Given the description of an element on the screen output the (x, y) to click on. 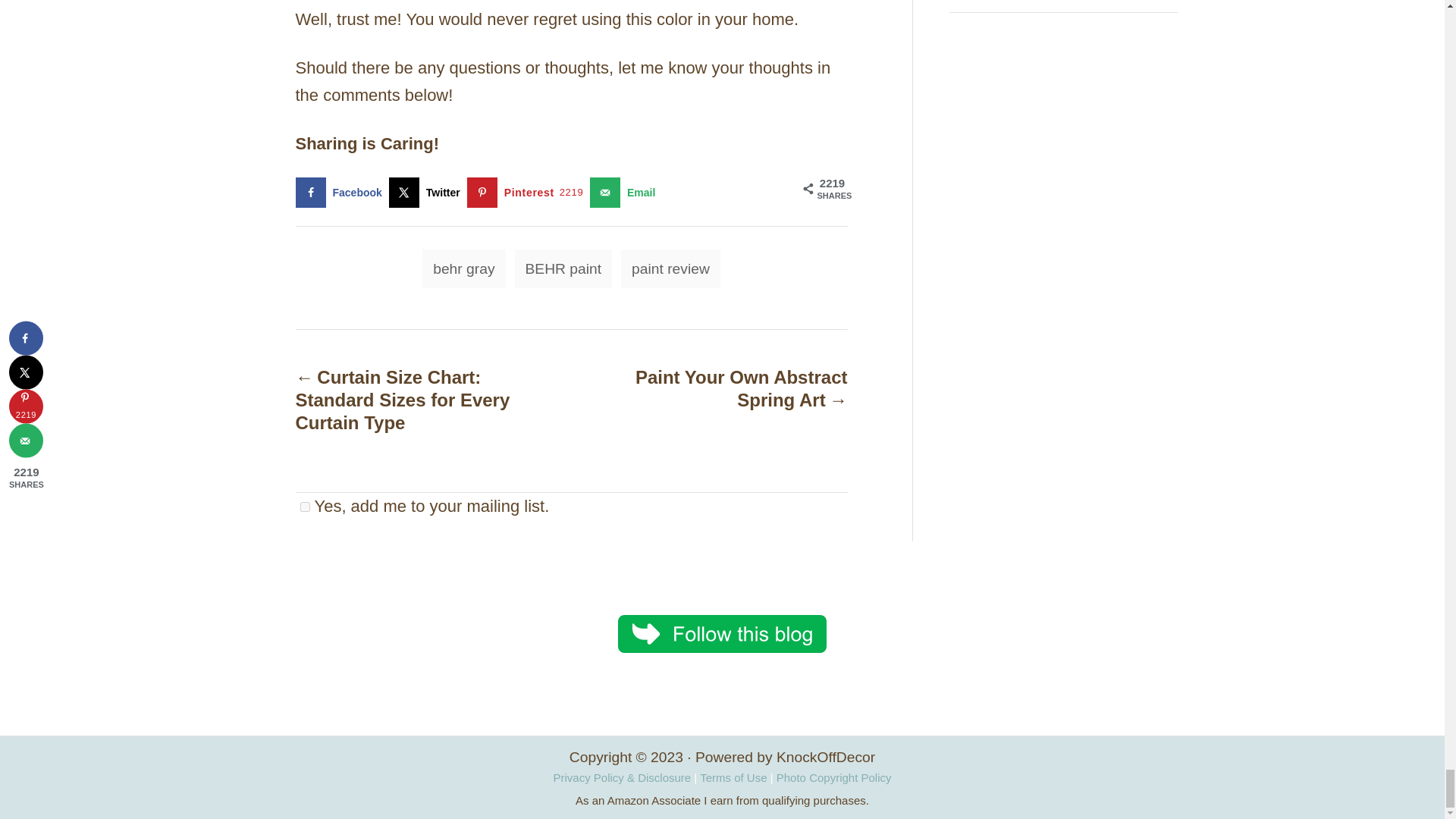
1 (304, 506)
